Given the description of an element on the screen output the (x, y) to click on. 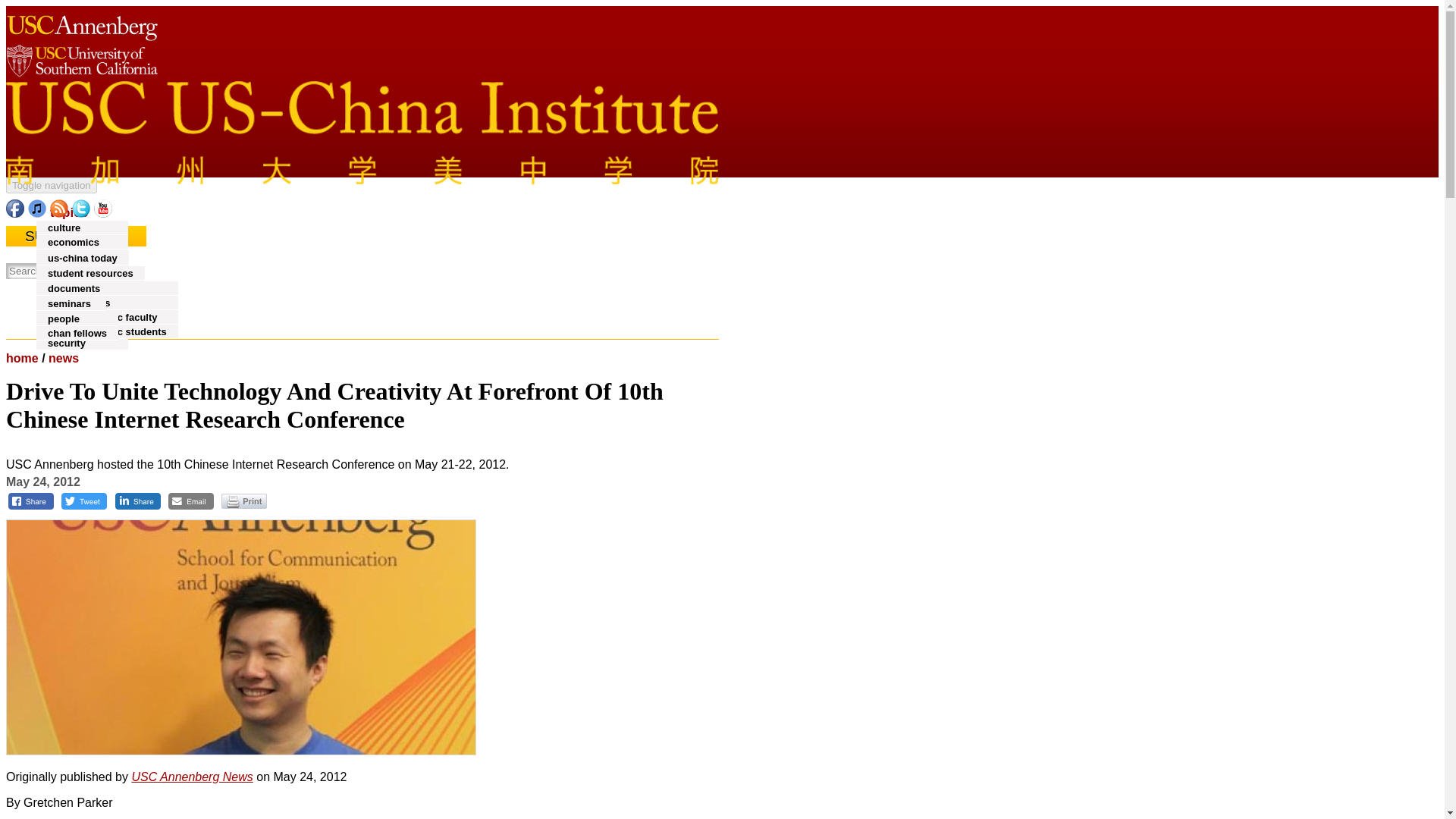
Home (362, 172)
politics (65, 314)
opportunities (79, 287)
student resources (90, 273)
economics (73, 242)
catalog (72, 272)
Subscribe (76, 236)
Enter the terms you wish to search for. (57, 270)
Toggle navigation (51, 185)
SUBSCRIBE (76, 236)
newsletter (71, 301)
documents (74, 288)
